Given the description of an element on the screen output the (x, y) to click on. 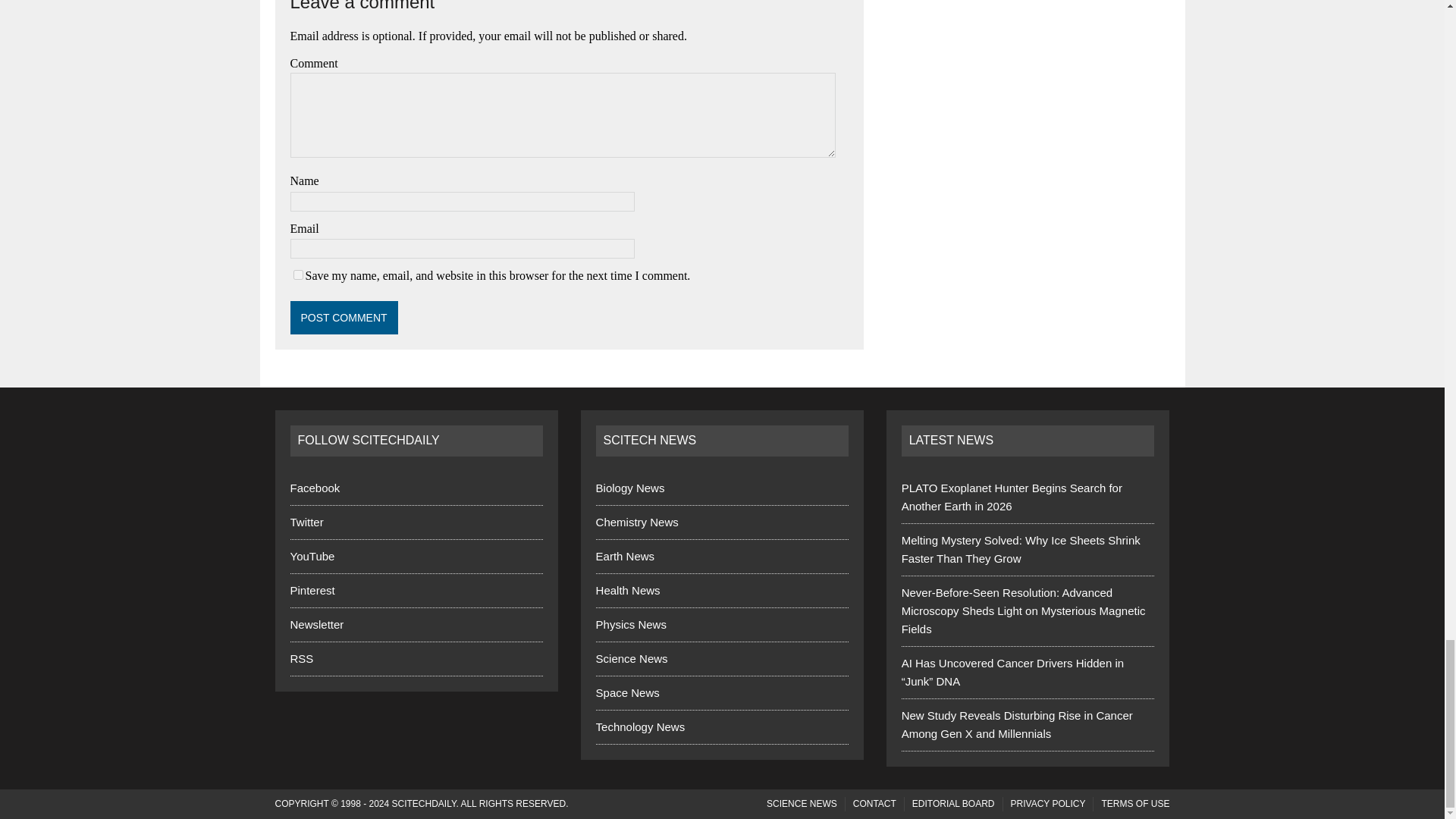
Post Comment (343, 317)
yes (297, 275)
